Given the description of an element on the screen output the (x, y) to click on. 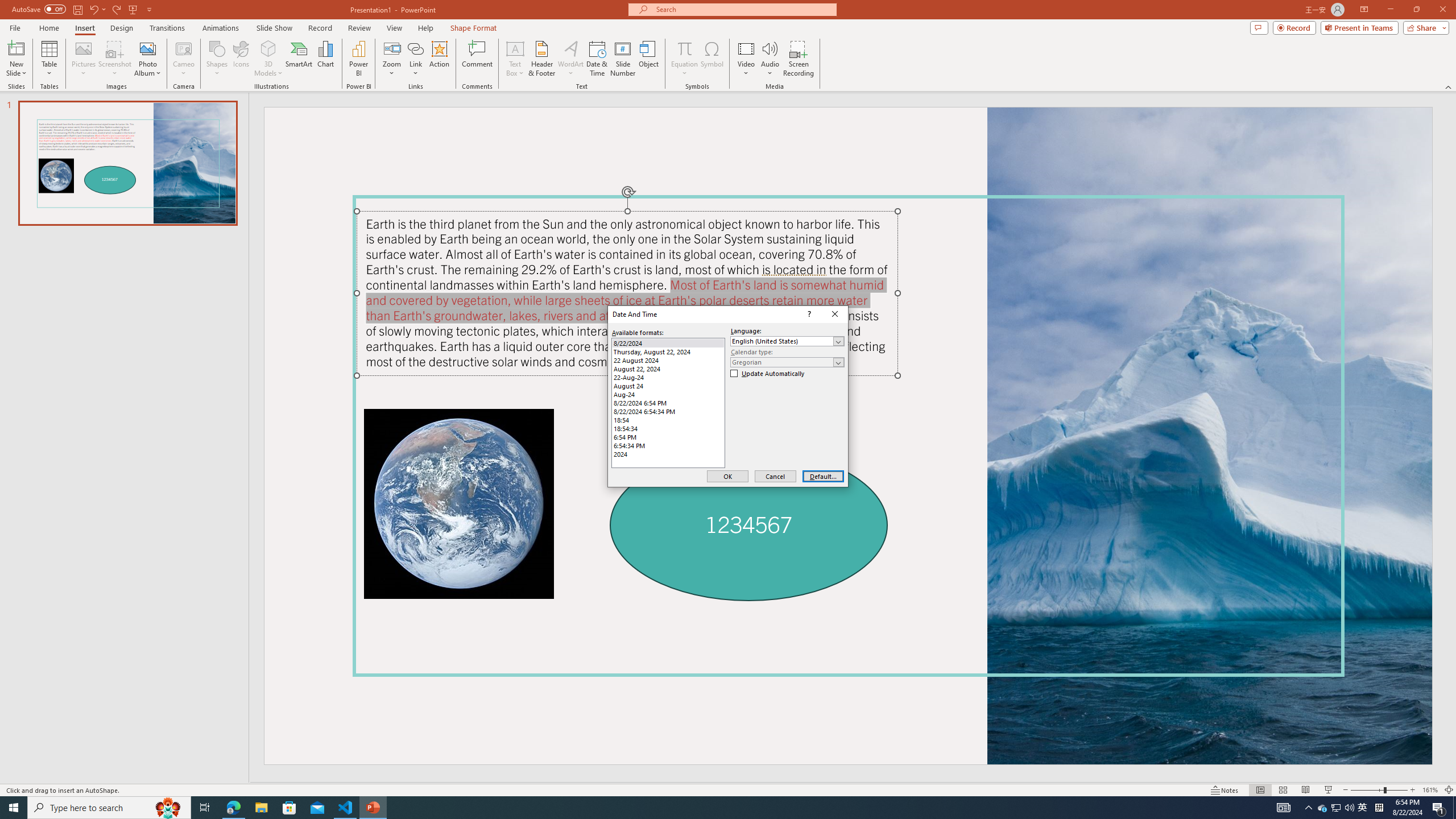
Visual Studio Code - 1 running window (345, 807)
Slide Number (622, 58)
Link (415, 58)
Action (439, 58)
New Photo Album... (147, 48)
Context help (807, 314)
Aug-24 (667, 393)
PowerPoint - 1 running window (373, 807)
Update Automatically (767, 373)
